Given the description of an element on the screen output the (x, y) to click on. 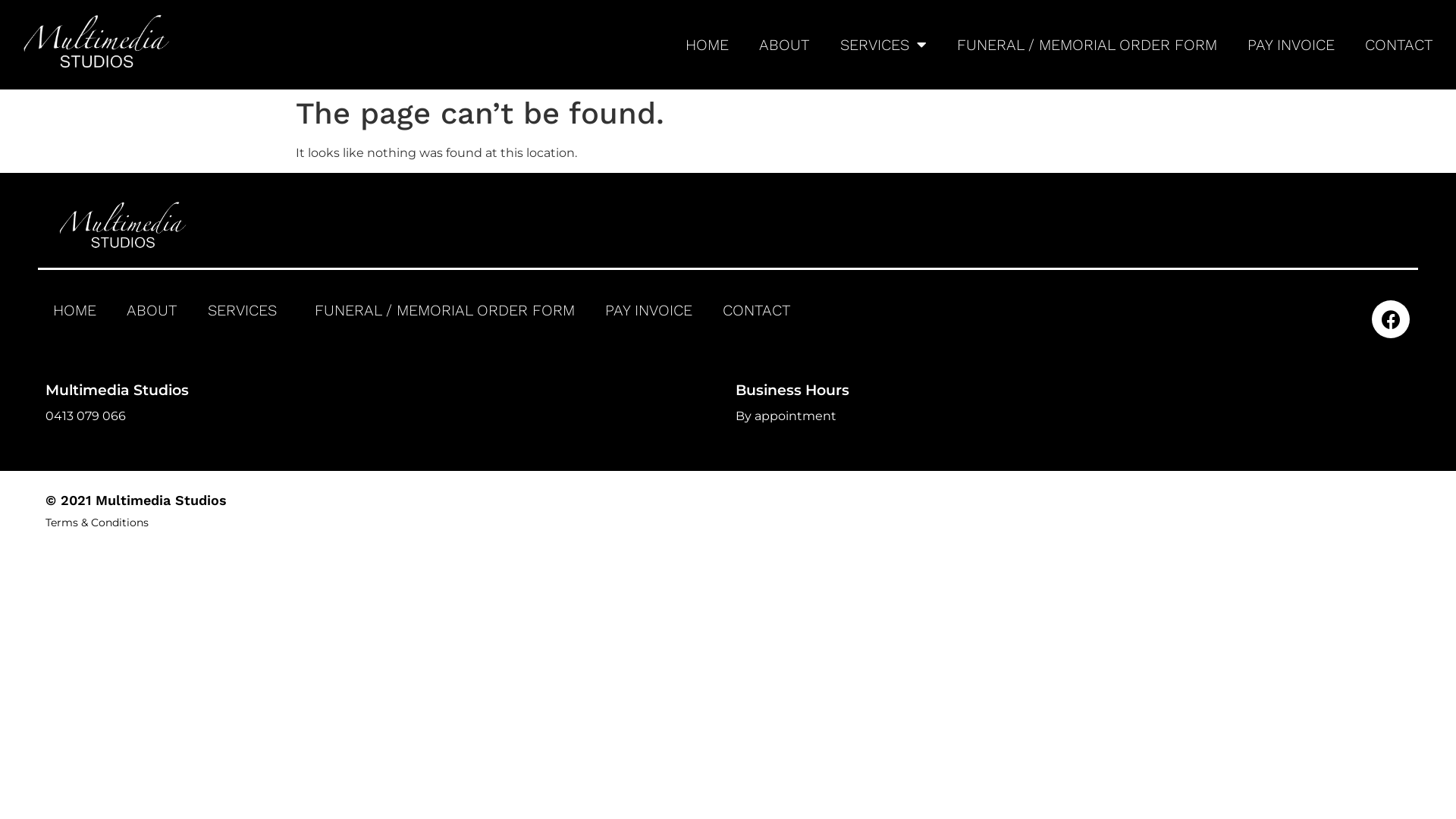
Terms & Conditions Element type: text (96, 522)
PAY INVOICE Element type: text (648, 309)
PAY INVOICE Element type: text (1290, 44)
FUNERAL / MEMORIAL ORDER FORM Element type: text (1086, 44)
ABOUT Element type: text (784, 44)
ABOUT Element type: text (151, 309)
HOME Element type: text (74, 309)
CONTACT Element type: text (756, 309)
CONTACT Element type: text (1398, 44)
FUNERAL / MEMORIAL ORDER FORM Element type: text (444, 309)
SERVICES Element type: text (245, 309)
HOME Element type: text (706, 44)
SERVICES Element type: text (883, 44)
